Given the description of an element on the screen output the (x, y) to click on. 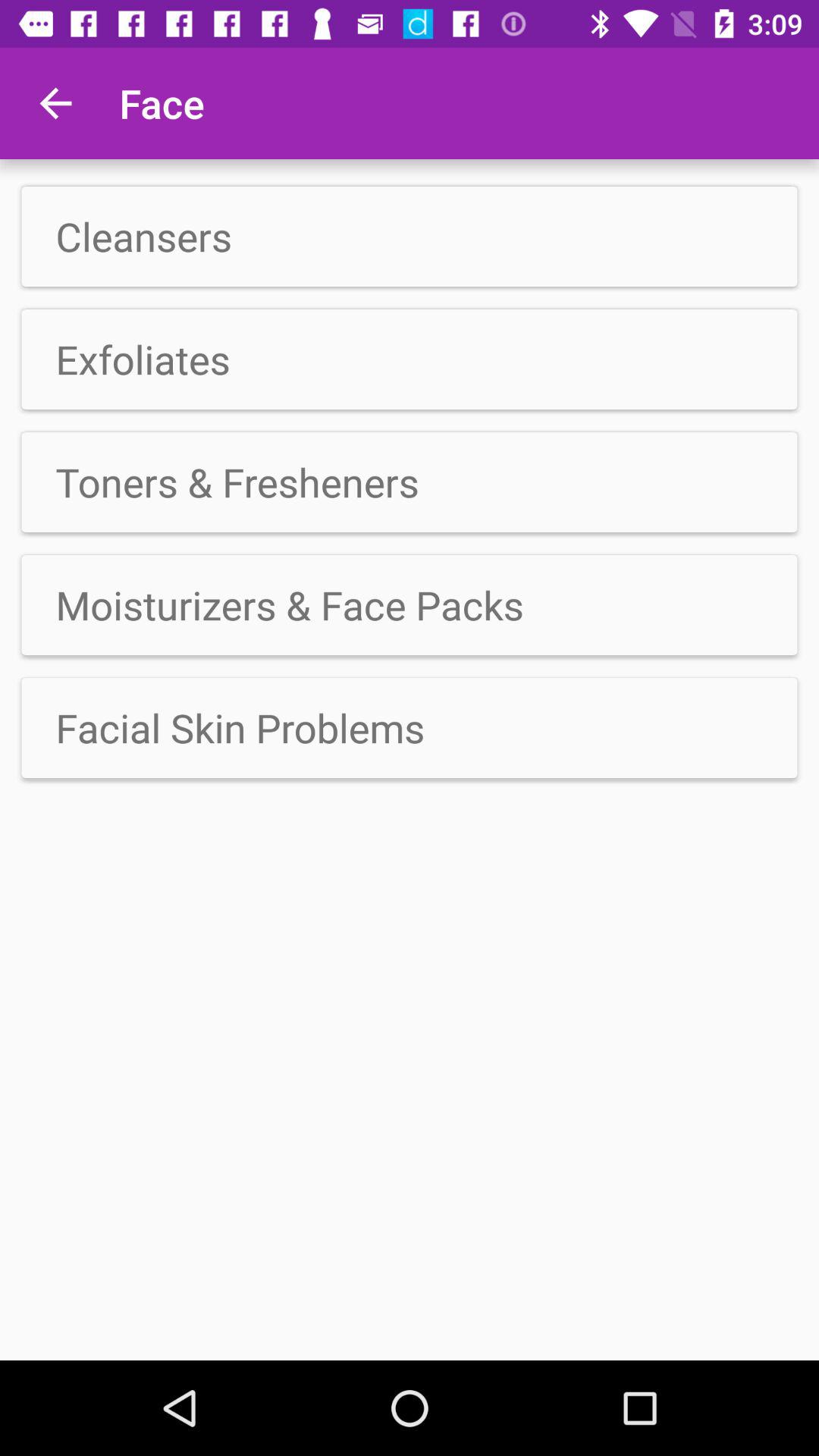
launch the item to the left of the face app (55, 103)
